Given the description of an element on the screen output the (x, y) to click on. 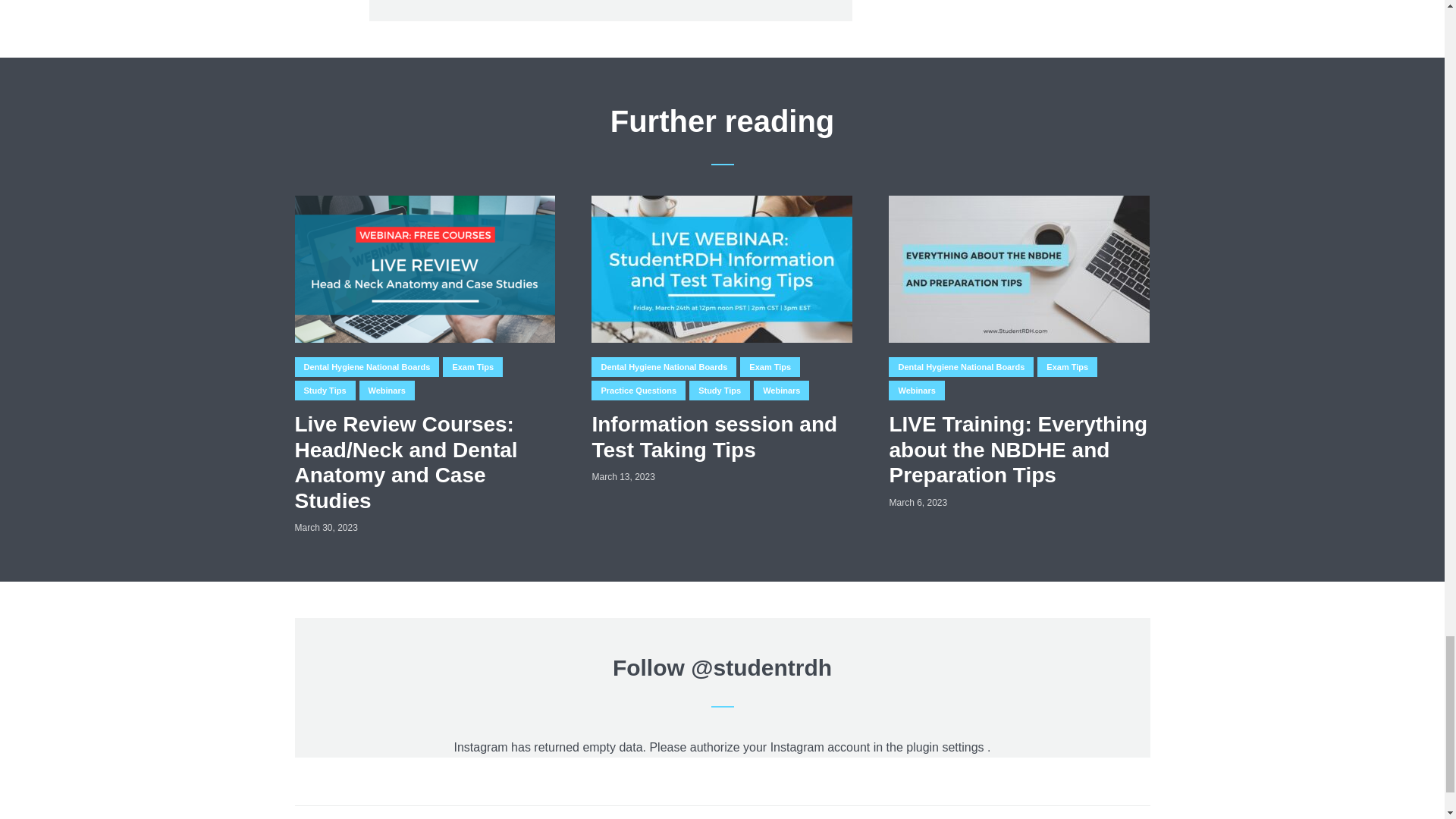
Dental Hygiene National Boards (366, 366)
